Given the description of an element on the screen output the (x, y) to click on. 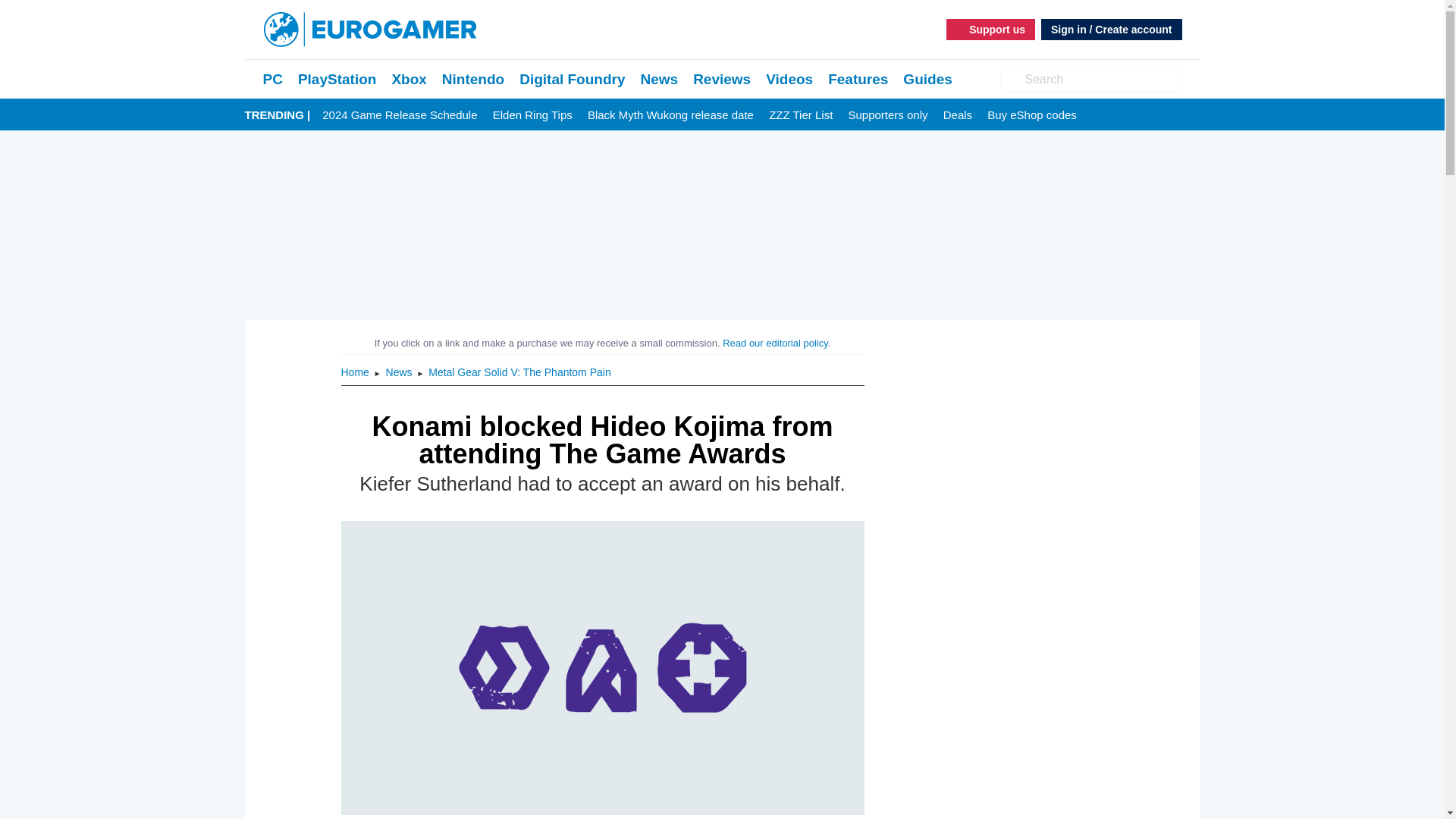
Buy eShop codes (1032, 114)
News (399, 372)
PlayStation (336, 78)
Digital Foundry (571, 78)
Reviews (722, 78)
Videos (788, 78)
Support us (990, 29)
Supporters only (887, 114)
Home (356, 372)
Black Myth Wukong release date (671, 114)
